Given the description of an element on the screen output the (x, y) to click on. 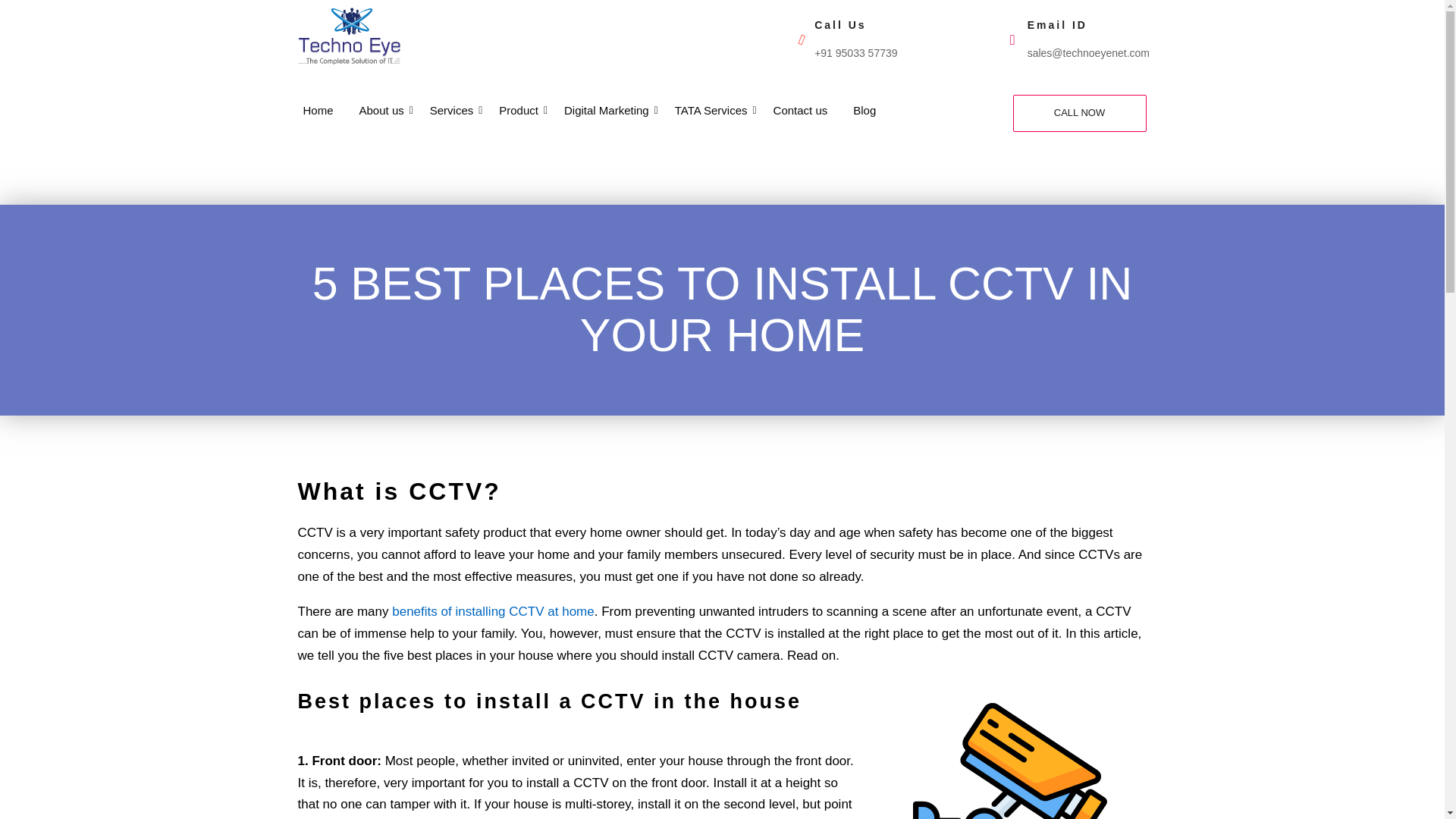
Digital Marketing (606, 110)
About us (381, 110)
Blog (863, 110)
Services (452, 110)
Home (317, 110)
Contact us (800, 110)
TATA Services (710, 110)
Product (518, 110)
